Given the description of an element on the screen output the (x, y) to click on. 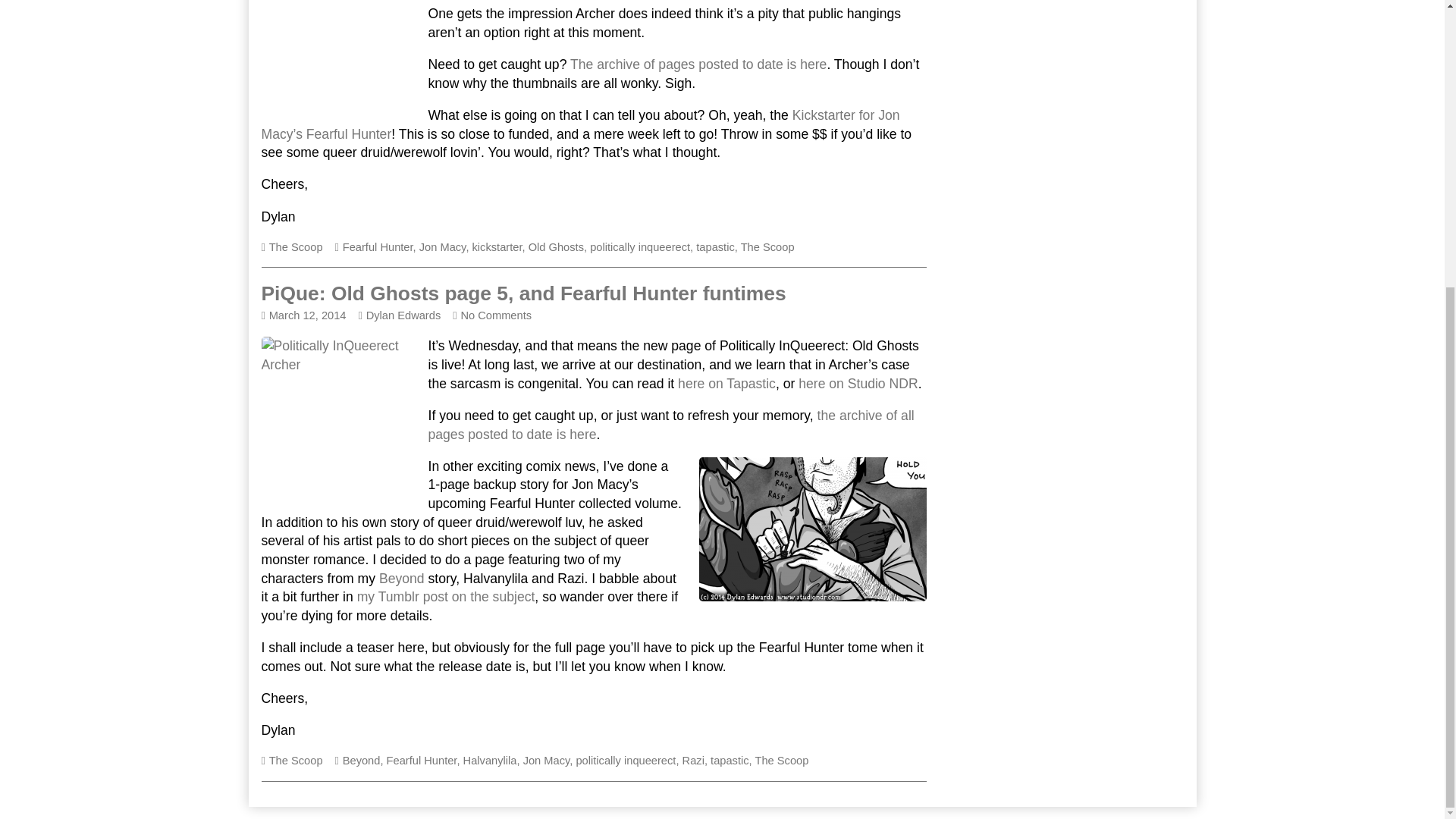
kickstarter (496, 246)
PiQue: Old Ghosts page 5, and Fearful Hunter funtimes (523, 292)
The Scoop (296, 246)
tapastic (715, 246)
The archive of pages posted to date is here (698, 64)
Jon Macy (442, 246)
politically inqueerect (639, 246)
Fearful Hunter (377, 246)
The Scoop (767, 246)
Old Ghosts (555, 246)
